Given the description of an element on the screen output the (x, y) to click on. 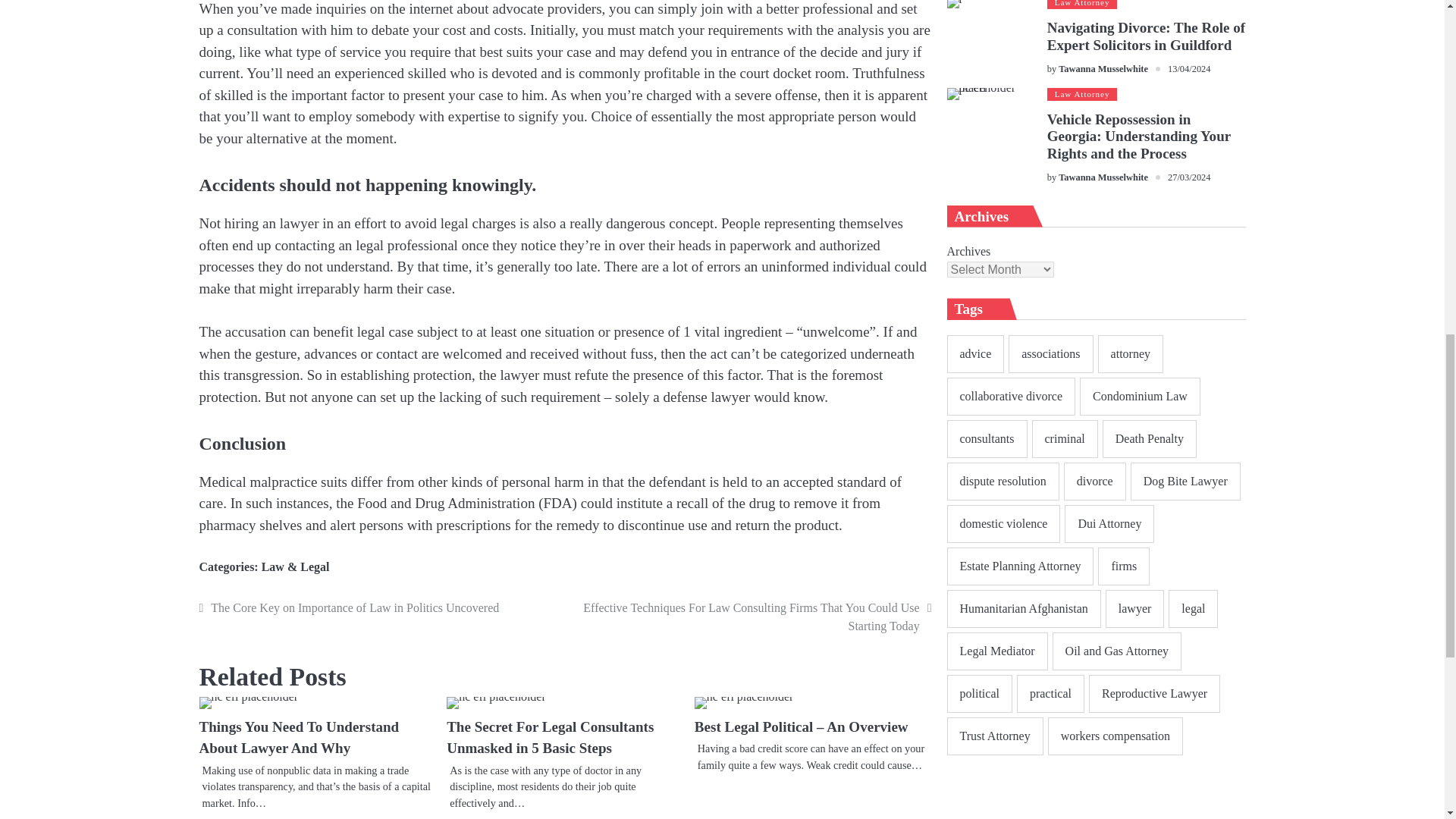
Things You Need To Understand About Lawyer And Why (248, 702)
Things You Need To Understand About Lawyer And Why (298, 737)
The Secret For Legal Consultants Unmasked in 5 Basic Steps (549, 737)
Best Legal Political - An Overview (743, 702)
The Core Key on Importance of Law in Politics Uncovered (379, 607)
The Secret For Legal Consultants Unmasked in 5 Basic Steps (496, 702)
